Given the description of an element on the screen output the (x, y) to click on. 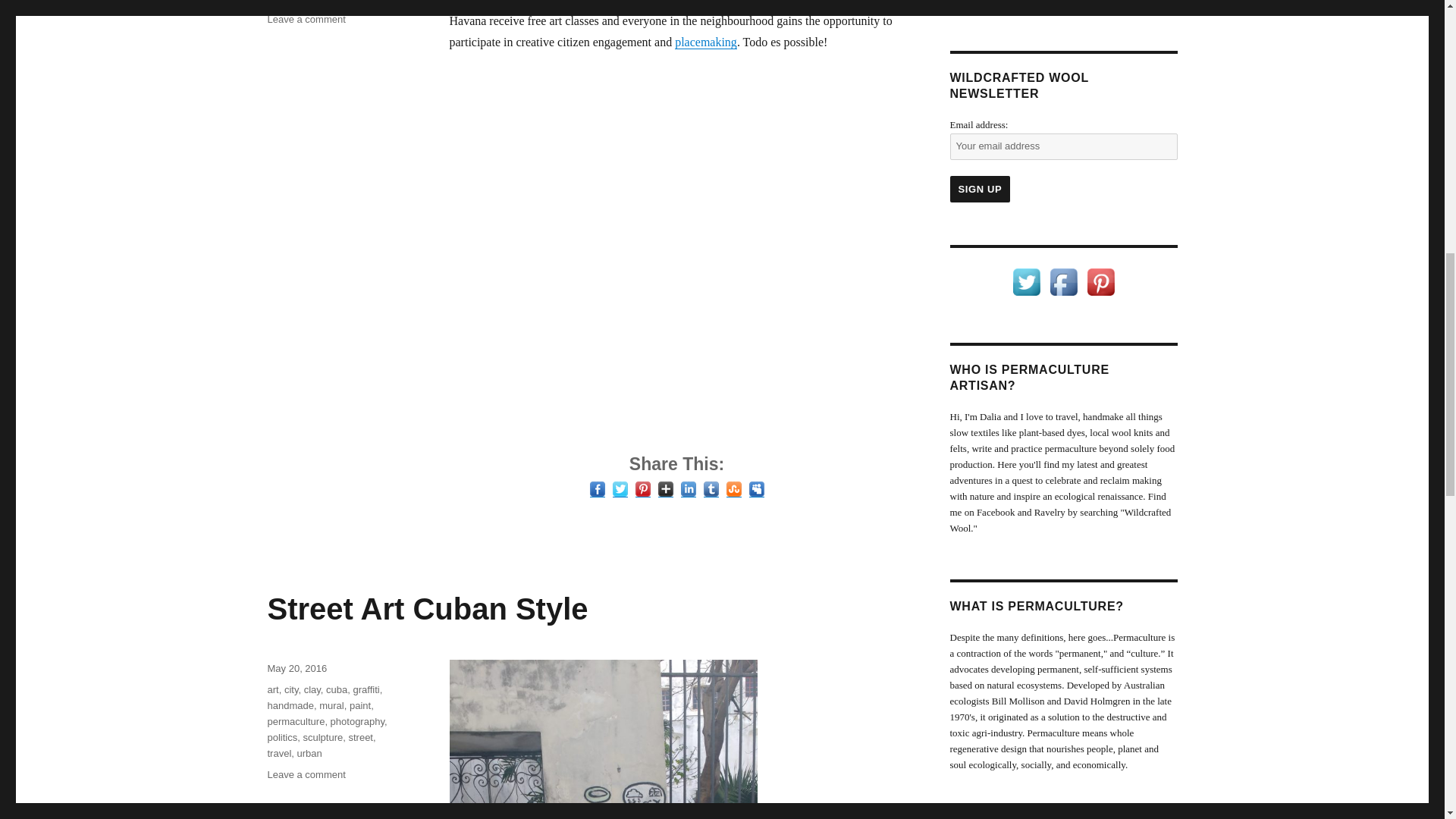
Visit Us On Pinterest (1100, 280)
Sign up (979, 189)
placemaking (705, 42)
Visit Us On Twitter (1026, 280)
Visit Us On Facebook (1063, 280)
